Given the description of an element on the screen output the (x, y) to click on. 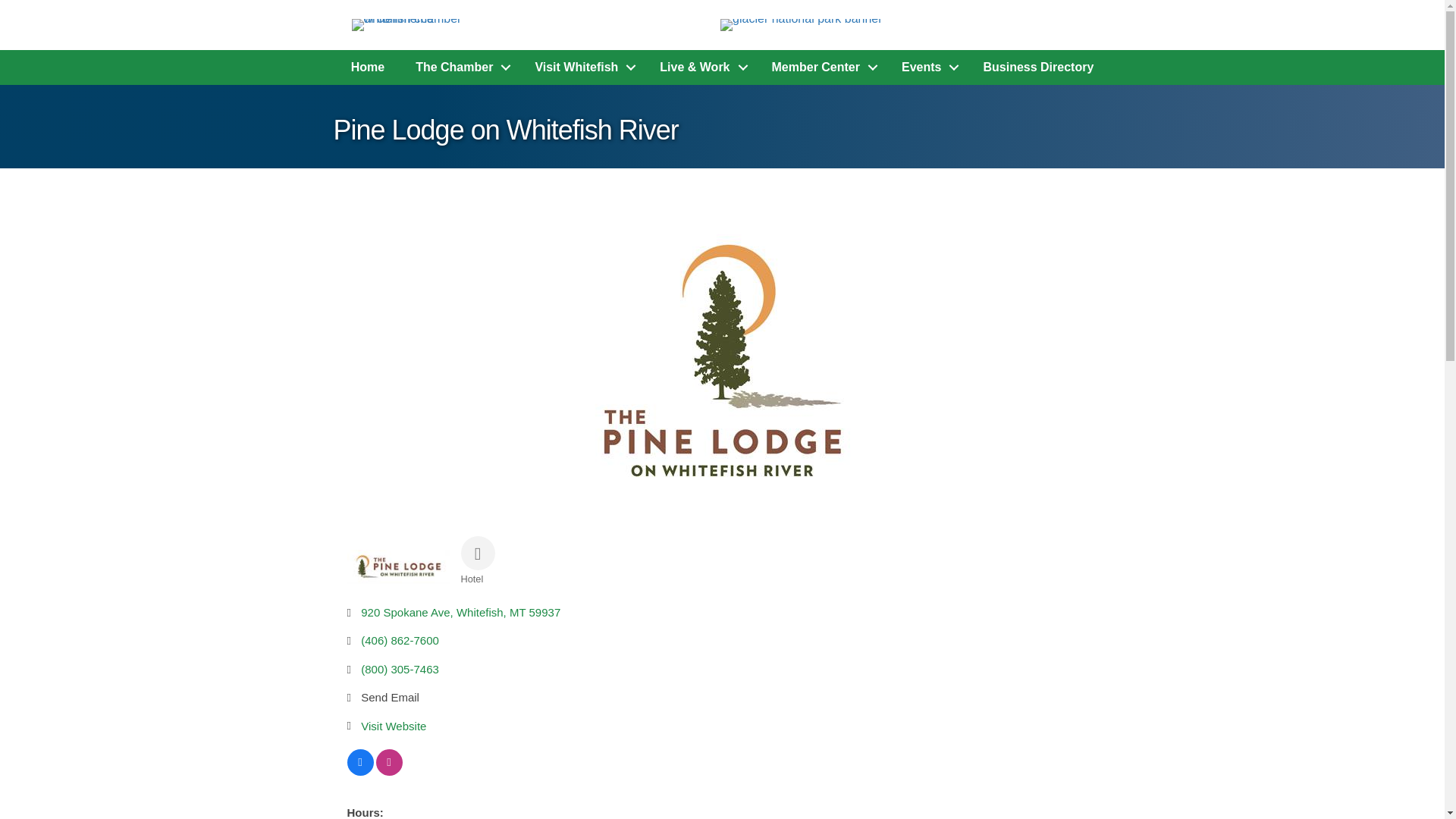
Home (367, 67)
View on Instagram (389, 771)
Visit Whitefish (581, 67)
View on Facebook (360, 771)
Pine Lodge on Whitefish River (398, 566)
Pine Lodge on Whitefish River (721, 361)
logo (411, 24)
Member Center (821, 67)
The Chamber (459, 67)
